Given the description of an element on the screen output the (x, y) to click on. 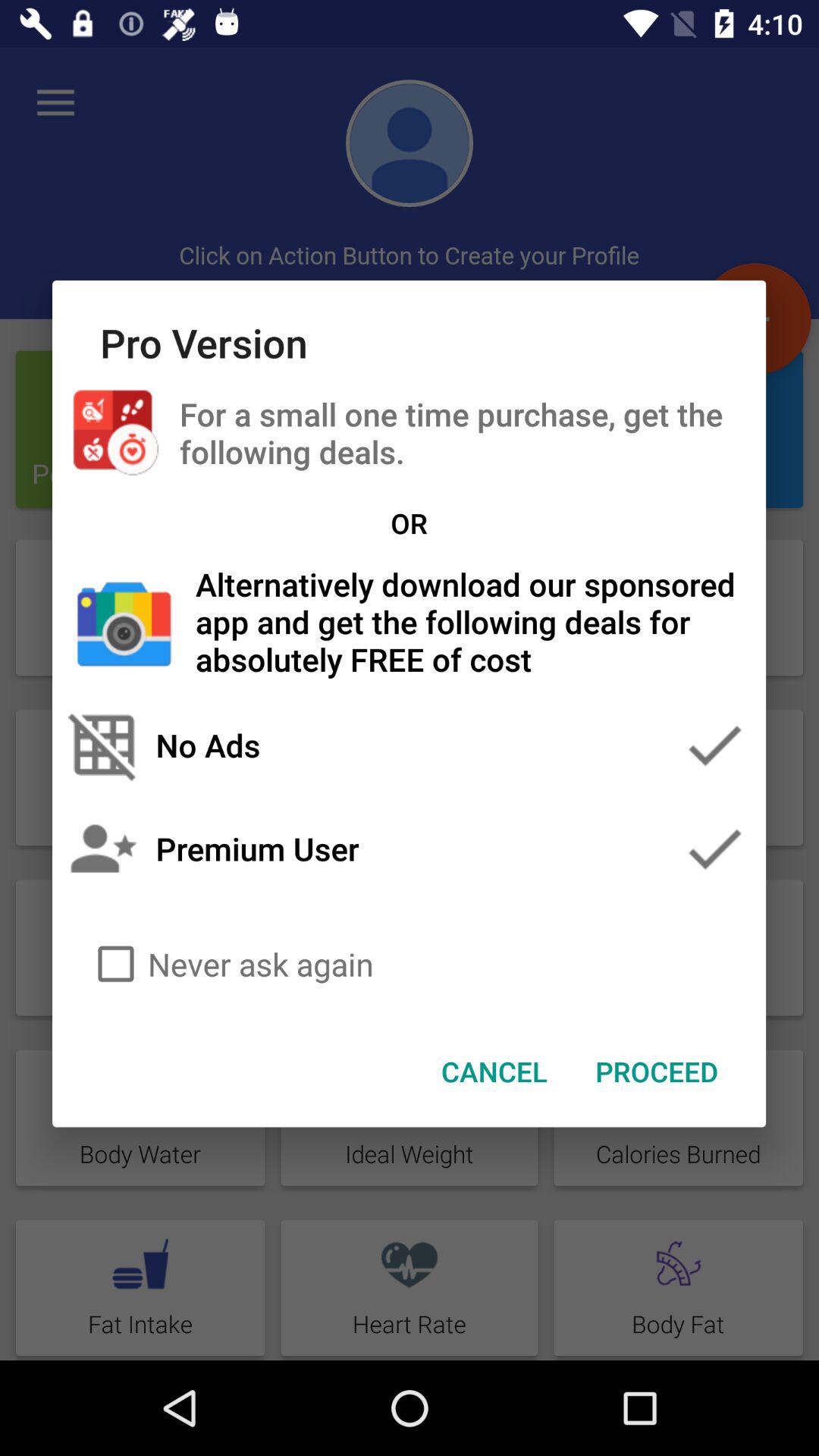
select the item to the left of the proceed icon (494, 1071)
